Given the description of an element on the screen output the (x, y) to click on. 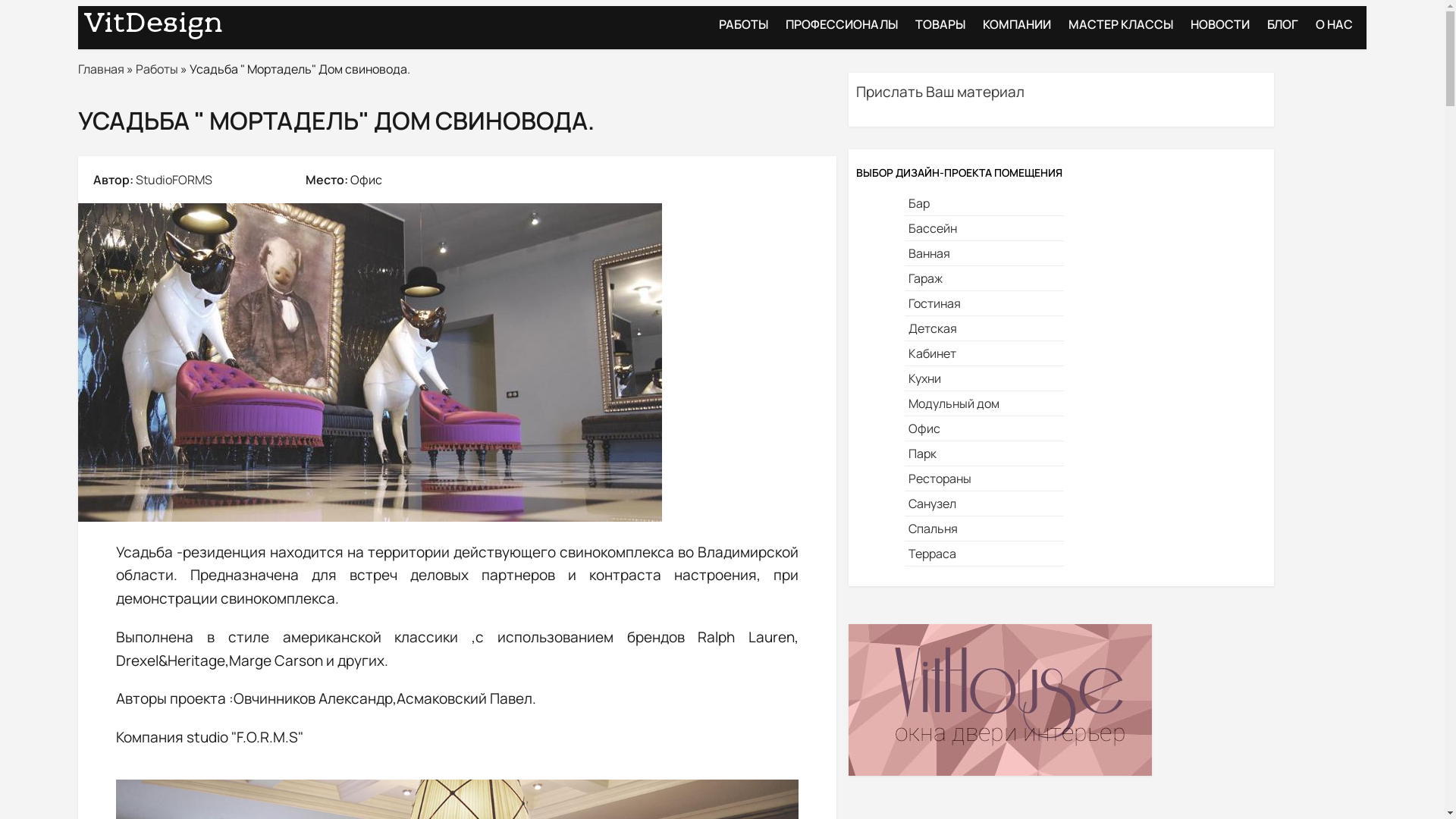
StudioFORMS Element type: text (173, 179)
